Given the description of an element on the screen output the (x, y) to click on. 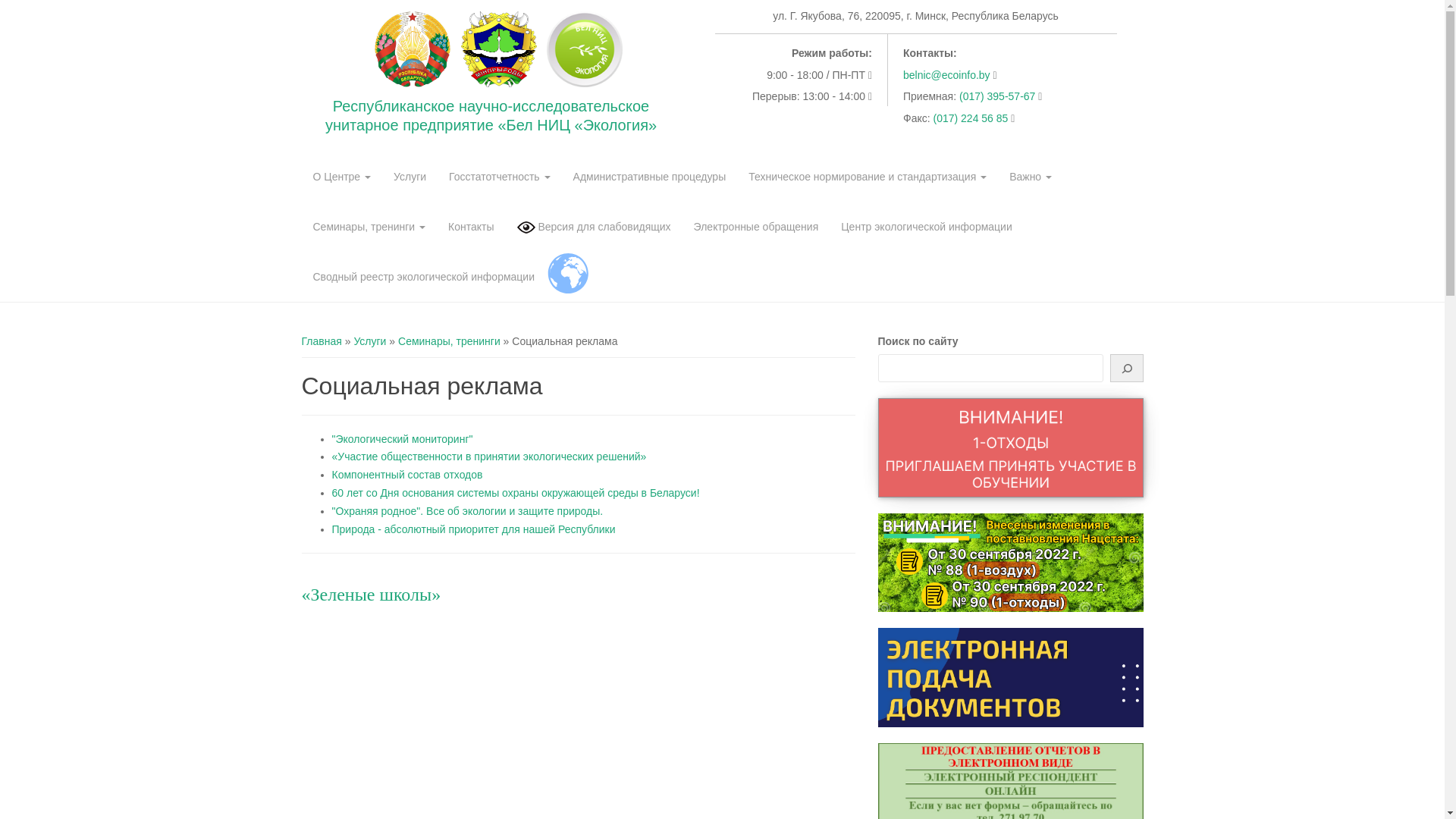
belnic@ecoinfo.by Element type: text (946, 75)
(017) 224 56 85 Element type: text (971, 118)
(017) 395-57-67 Element type: text (998, 96)
